Given the description of an element on the screen output the (x, y) to click on. 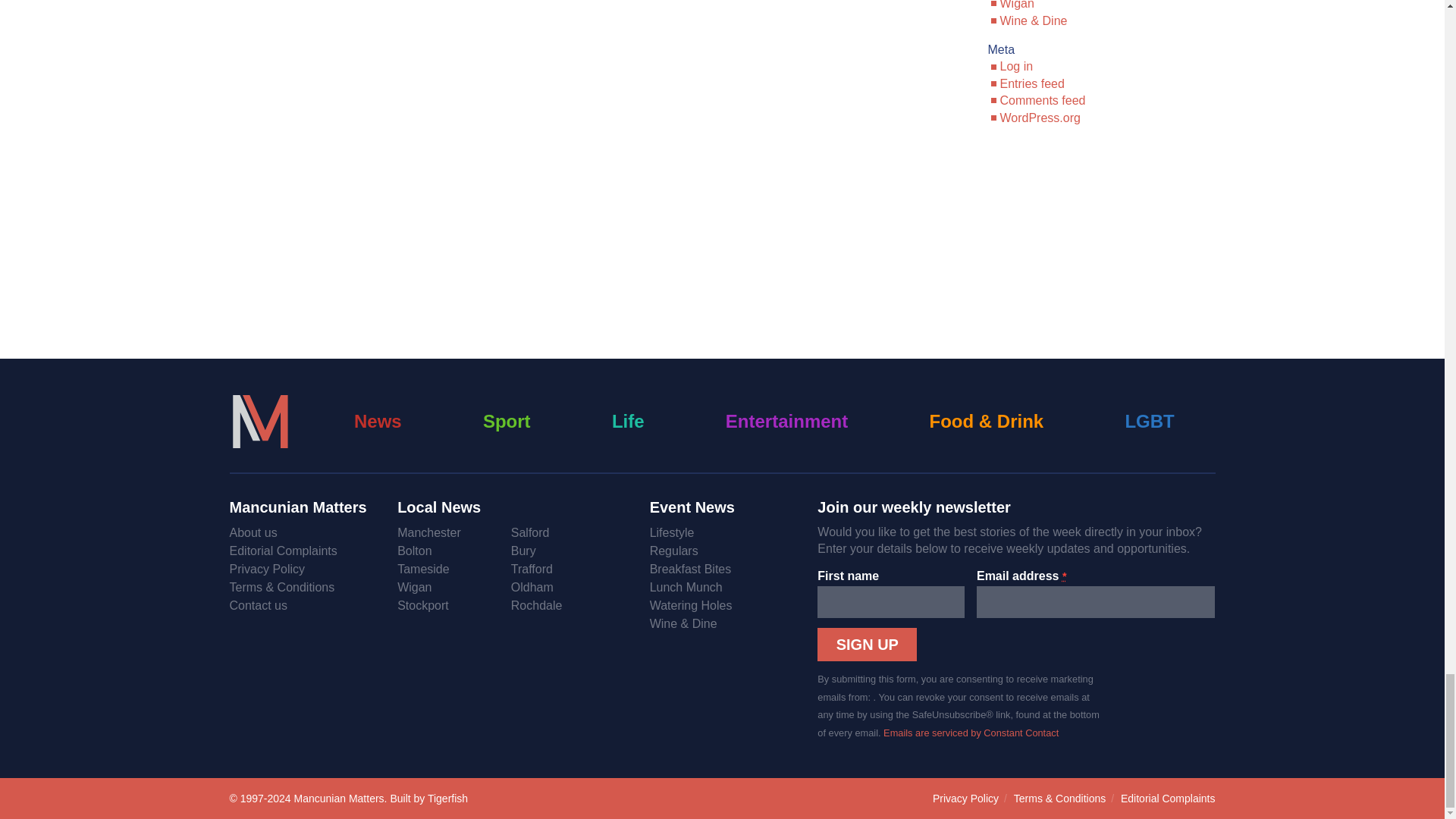
Sign up (866, 644)
